Given the description of an element on the screen output the (x, y) to click on. 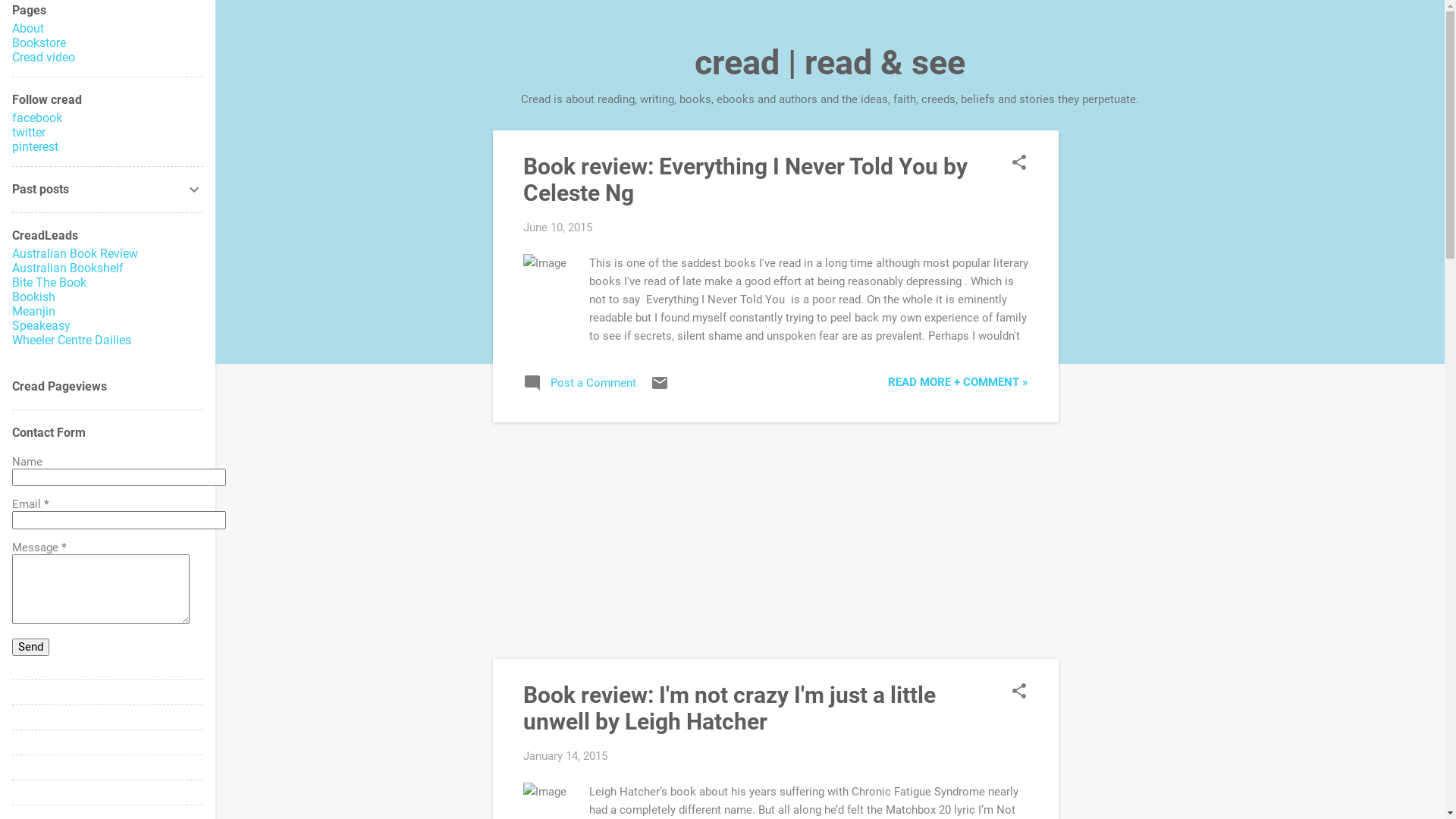
Book review: Everything I Never Told You by Celeste Ng Element type: text (745, 179)
Advertisement Element type: hover (1118, 357)
Post a Comment Element type: text (579, 387)
June 10, 2015 Element type: text (557, 227)
Email Post Element type: hover (659, 387)
Bite The Book Element type: text (49, 282)
Australian Book Review Element type: text (75, 253)
Australian Bookshelf Element type: text (67, 267)
Speakeasy Element type: text (41, 325)
January 14, 2015 Element type: text (565, 755)
facebook Element type: text (37, 117)
Meanjin Element type: text (33, 311)
cread | read & see Element type: text (829, 62)
pinterest Element type: text (35, 146)
Advertisement Element type: hover (775, 540)
Wheeler Centre Dailies Element type: text (71, 339)
twitter Element type: text (28, 132)
About Element type: text (27, 28)
Bookstore Element type: text (38, 42)
Cread video Element type: text (43, 57)
Bookish Element type: text (33, 296)
